Given the description of an element on the screen output the (x, y) to click on. 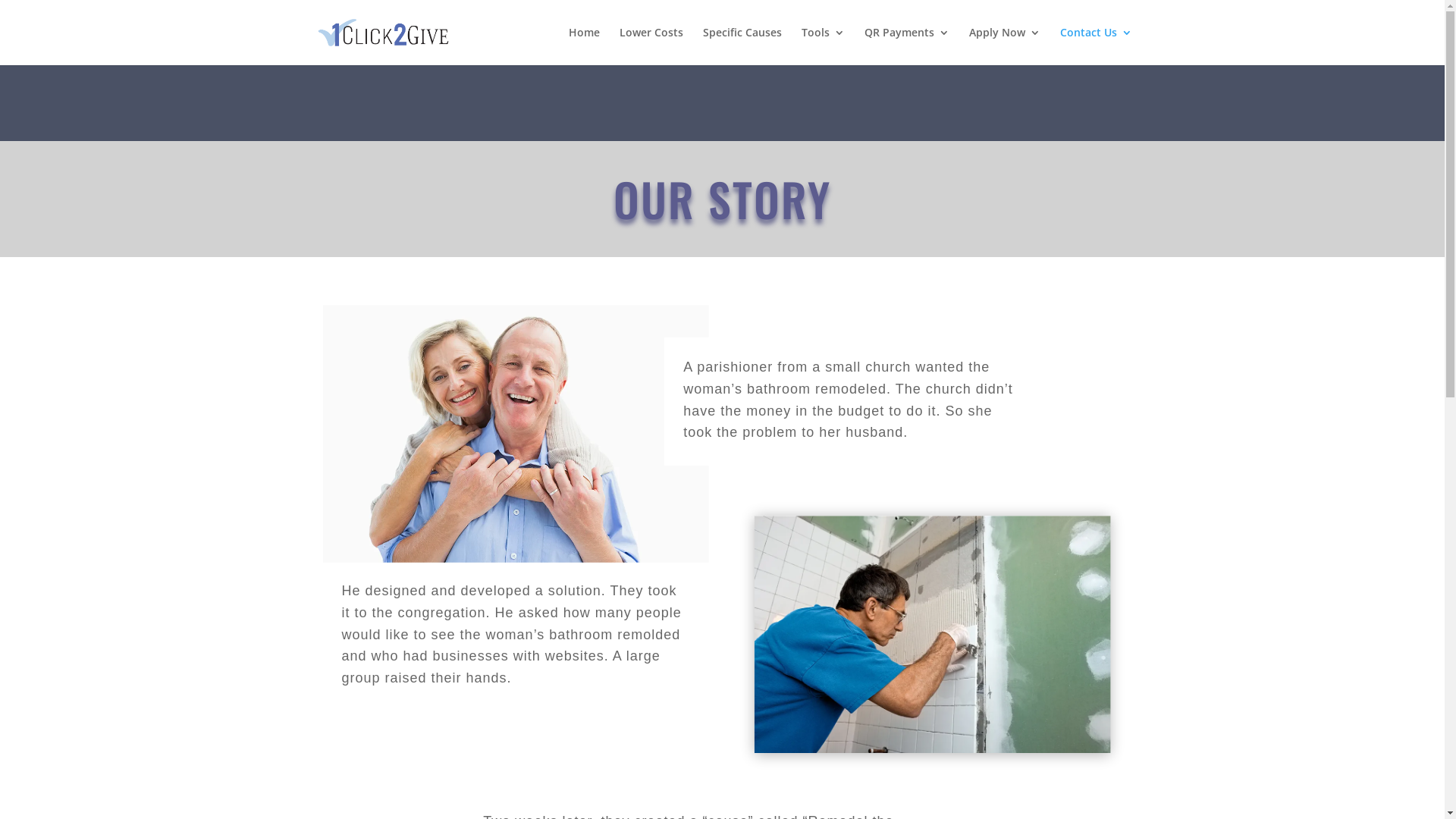
Apply Now Element type: text (1004, 46)
Home Element type: text (583, 46)
Happy couple embracing smiling at camera on white background Element type: hover (495, 419)
QR Payments Element type: text (906, 46)
Lower Costs Element type: text (650, 46)
Specific Causes Element type: text (741, 46)
Contact Us Element type: text (1096, 46)
Tiling the Bathroom Tub Enclosure Element type: hover (935, 636)
Tools Element type: text (822, 46)
